Given the description of an element on the screen output the (x, y) to click on. 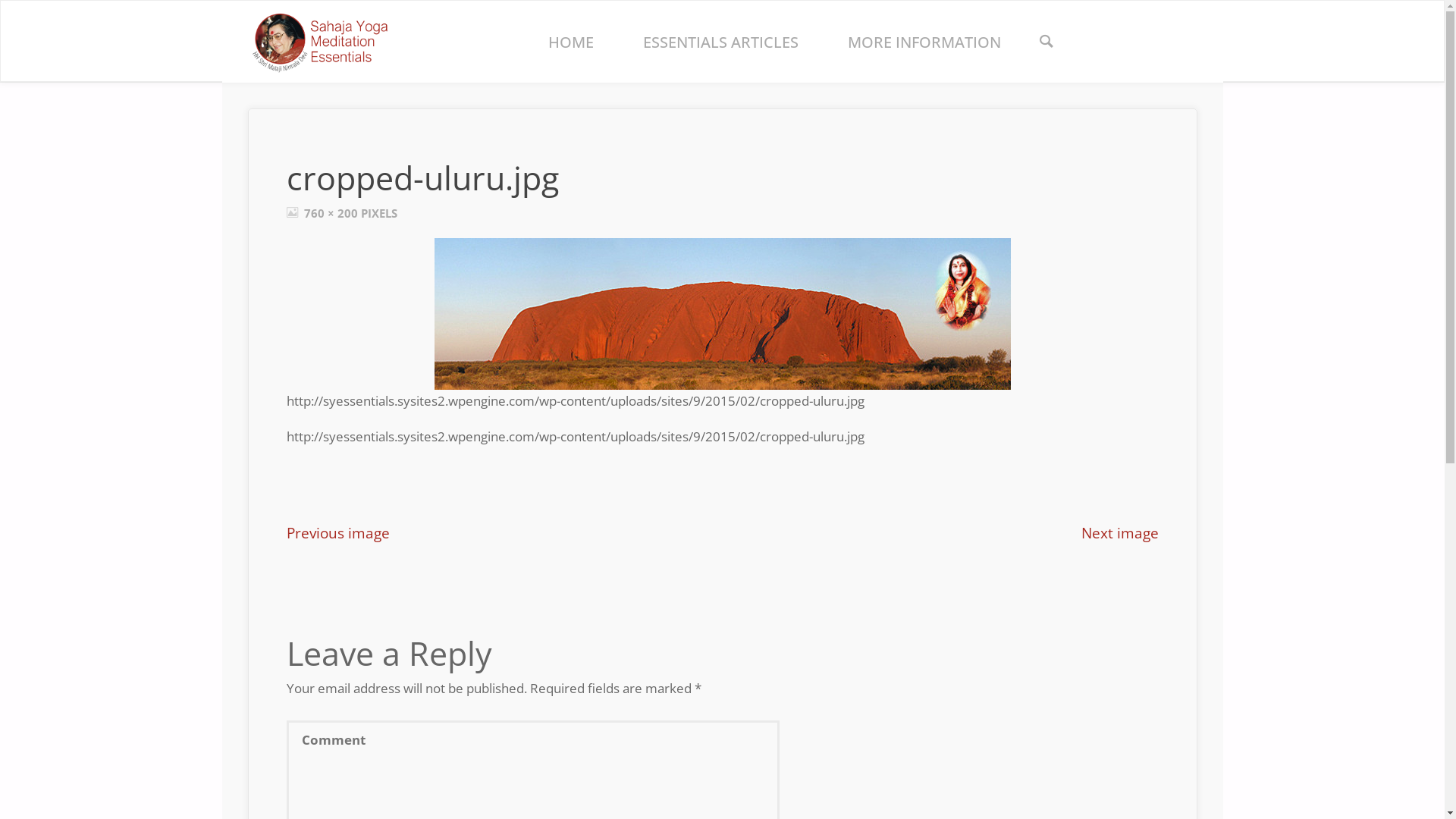
Skip to content Element type: text (542, 67)
Full size Element type: hover (292, 212)
Sahaja Yoga Meditation Essentials Element type: hover (319, 41)
ESSENTIALS ARTICLES Element type: text (720, 41)
Next image Element type: text (1119, 532)
Previous image Element type: text (337, 532)
HOME Element type: text (570, 41)
SEARCH Element type: text (1045, 41)
MORE INFORMATION Element type: text (924, 41)
